Given the description of an element on the screen output the (x, y) to click on. 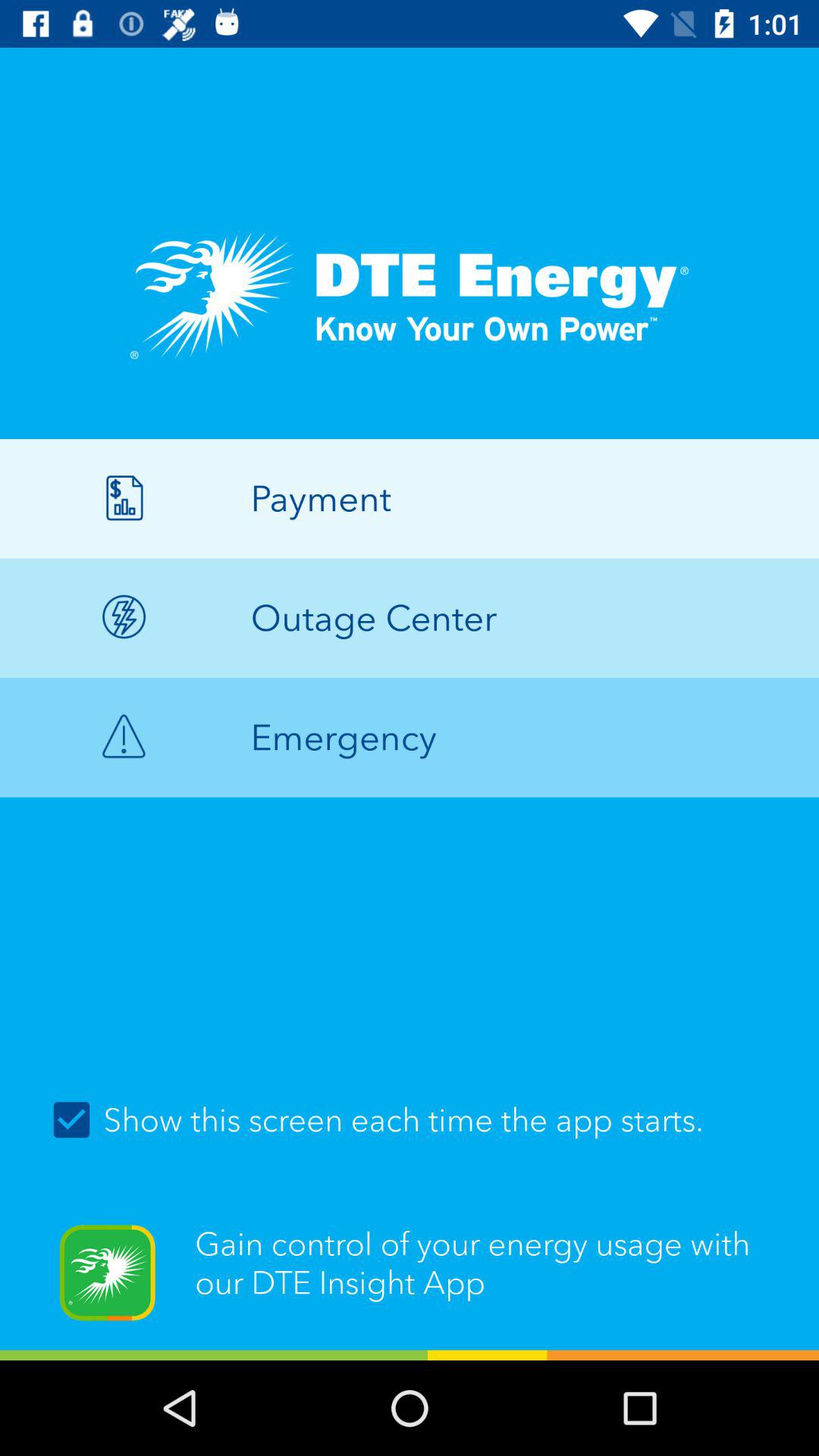
click the emergency item (409, 737)
